Given the description of an element on the screen output the (x, y) to click on. 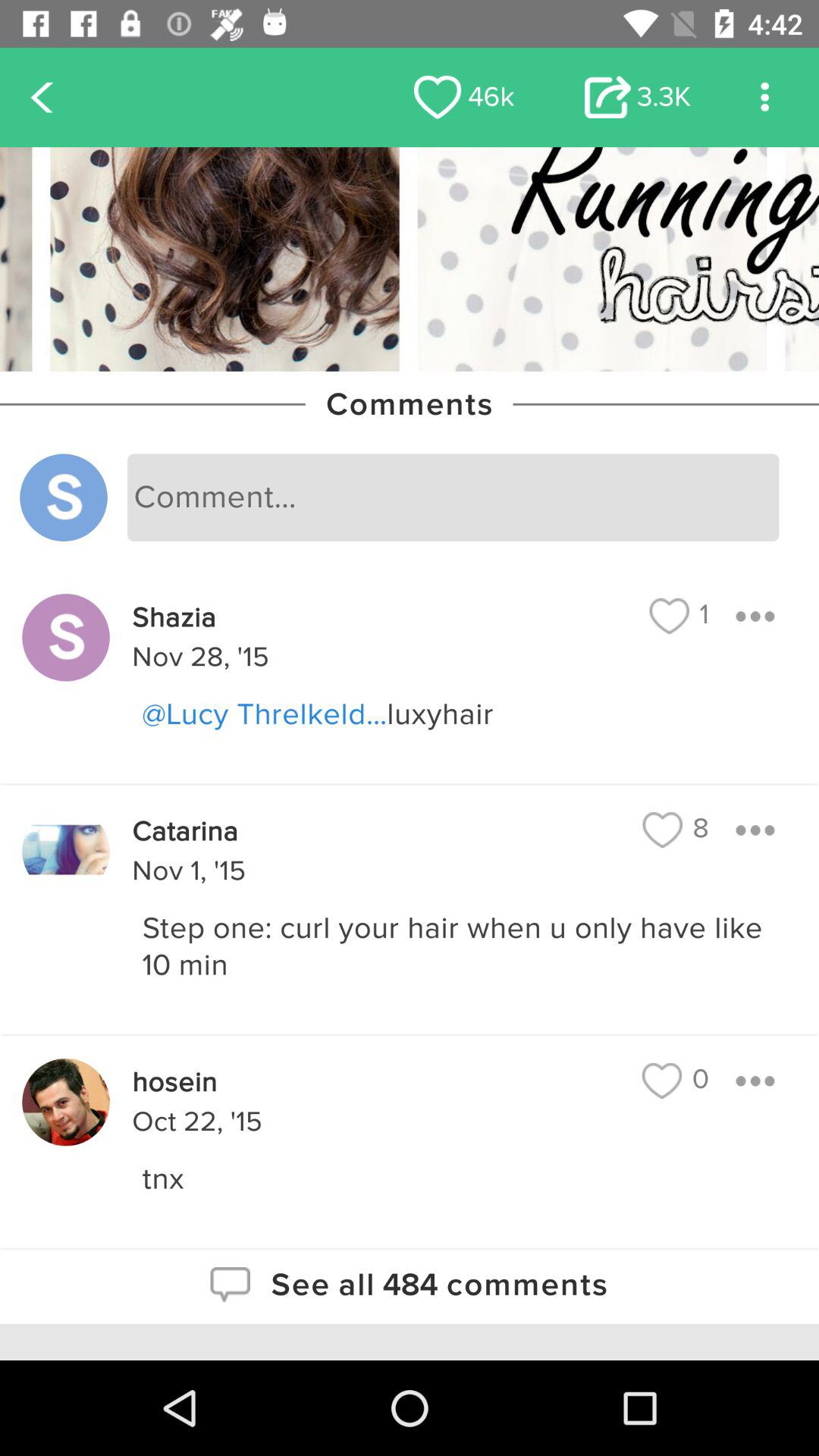
tap the item above step one curl icon (675, 830)
